Given the description of an element on the screen output the (x, y) to click on. 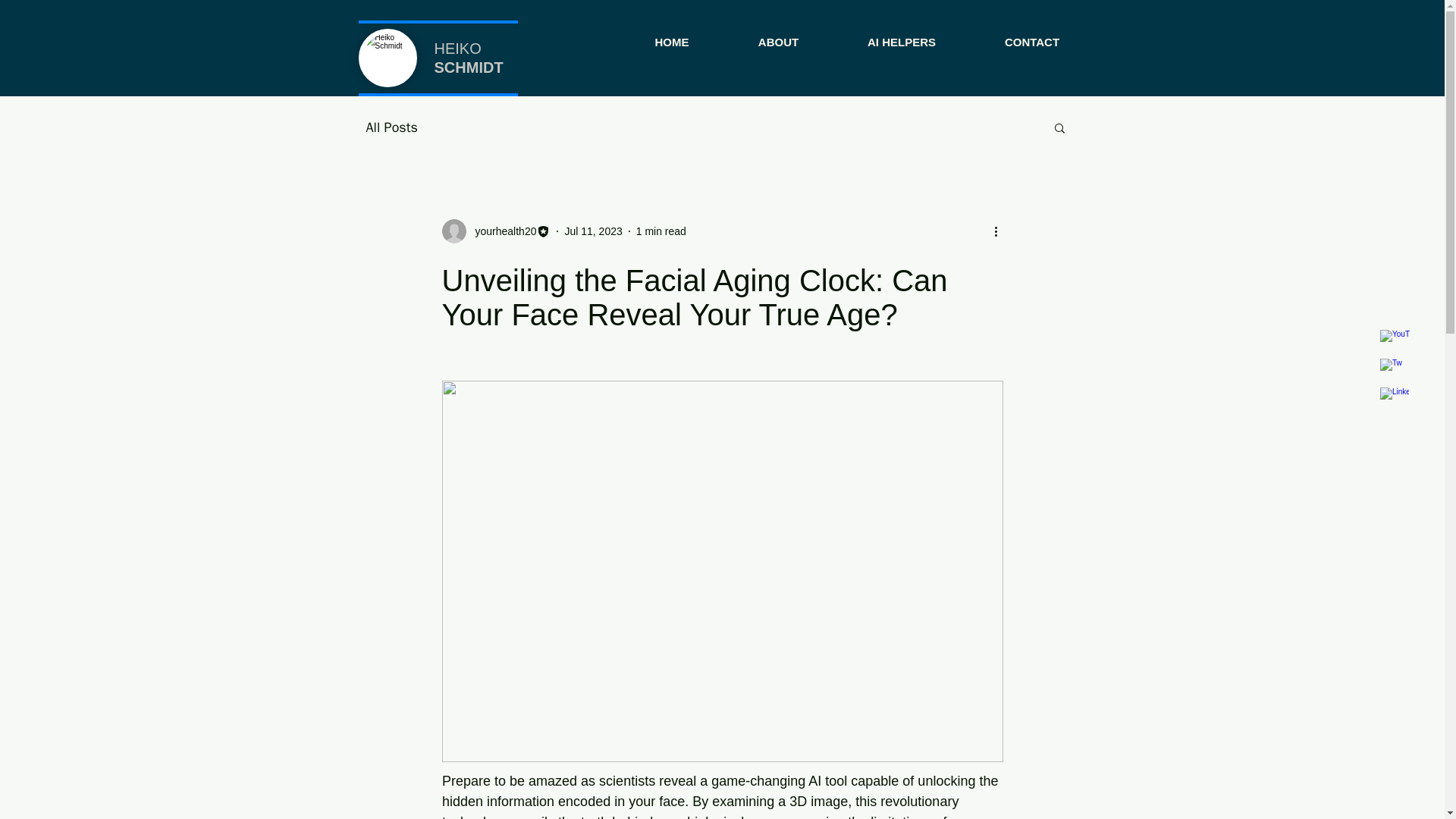
Jul 11, 2023 (592, 230)
AI HELPERS (900, 35)
yourhealth20 (495, 231)
ABOUT (777, 35)
1 min read (660, 230)
HOME (671, 35)
All Posts (390, 126)
yourhealth20 (500, 230)
CONTACT (1032, 35)
HEIKO SCHMIDT (467, 58)
